Given the description of an element on the screen output the (x, y) to click on. 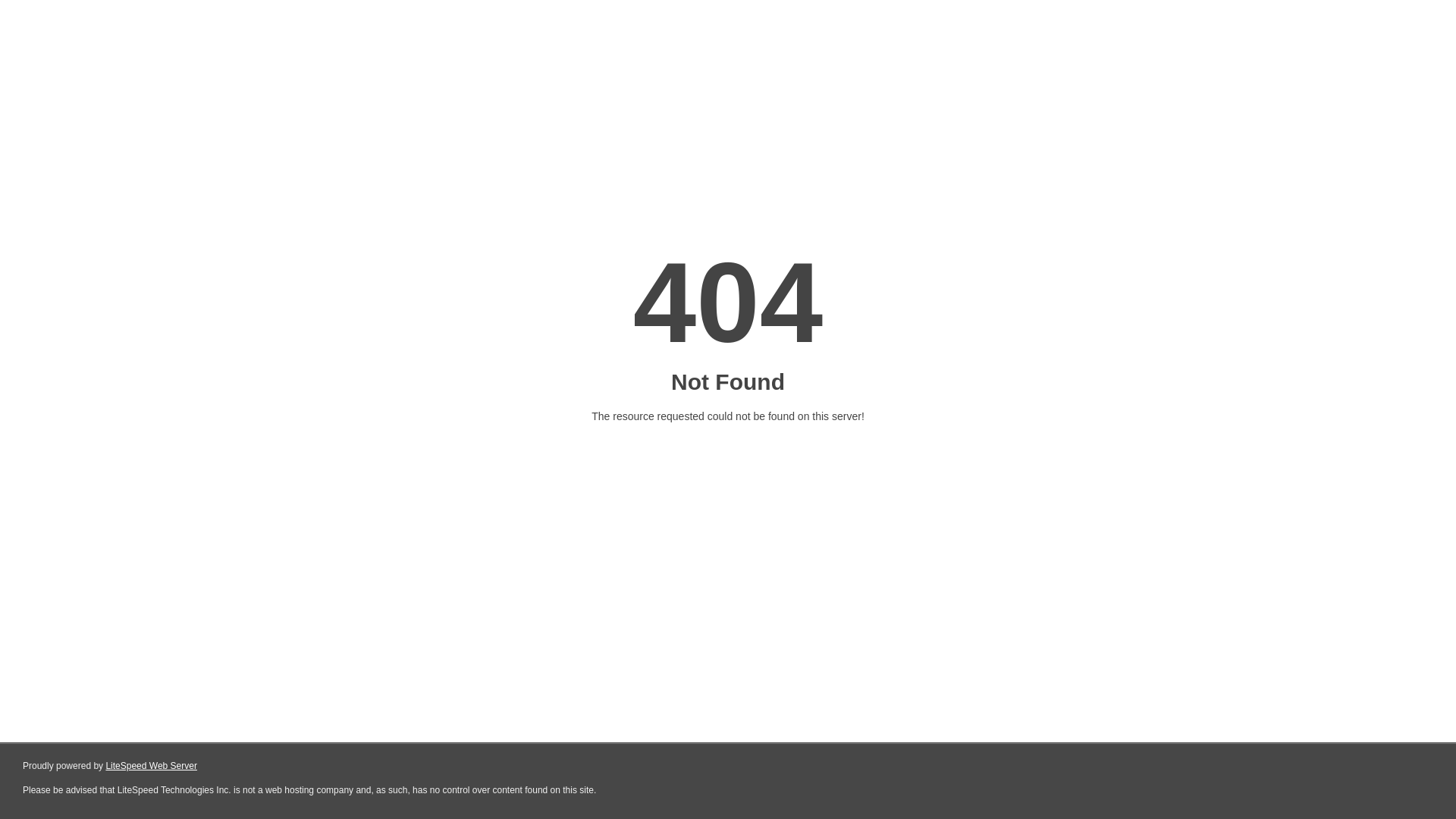
LiteSpeed Web Server Element type: text (151, 765)
